Given the description of an element on the screen output the (x, y) to click on. 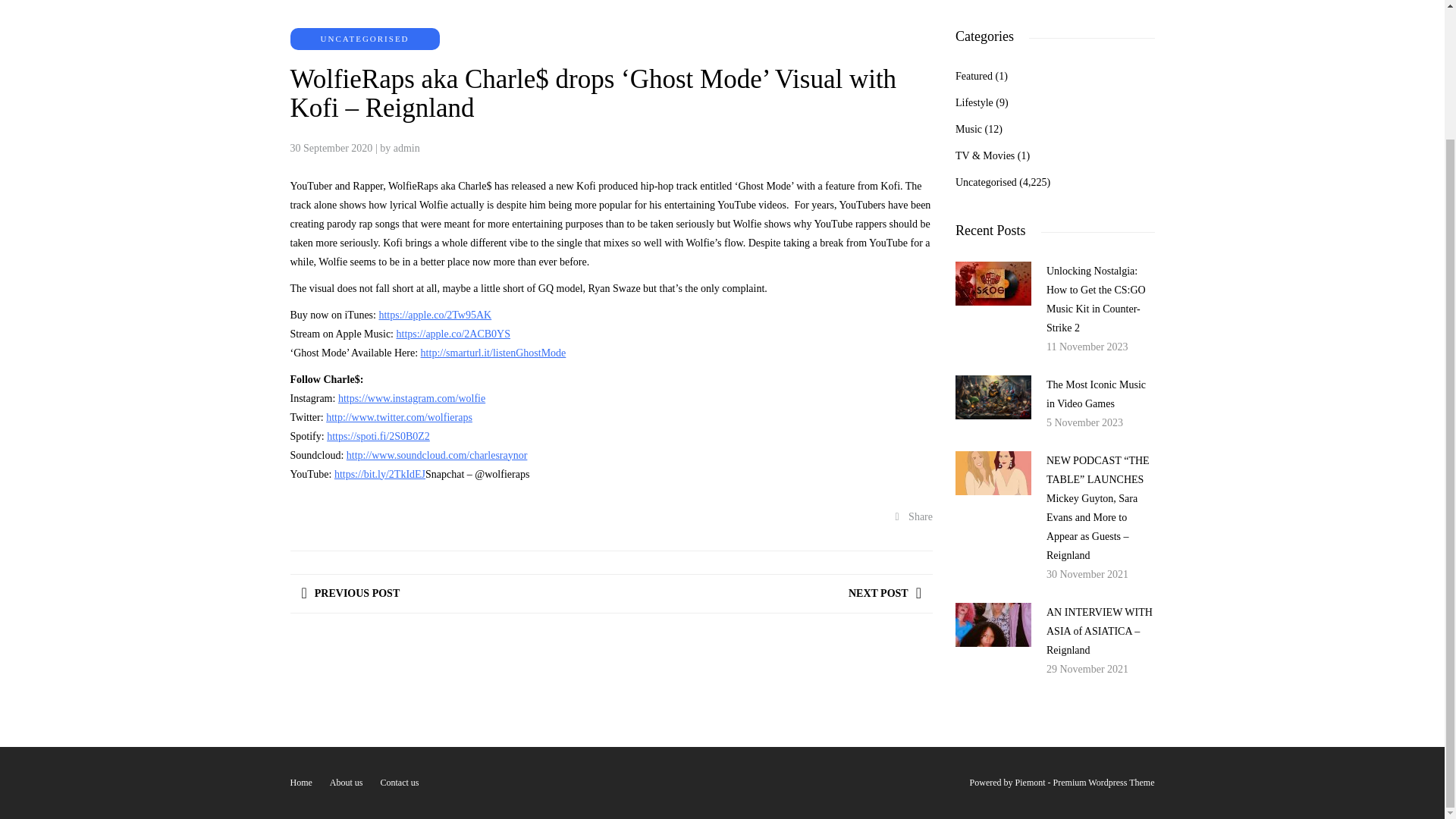
PREVIOUS POST (350, 593)
Lifestyle (973, 102)
Uncategorised (985, 182)
UNCATEGORISED (364, 38)
Music (968, 129)
Share (914, 516)
NEXT POST (884, 593)
Featured (973, 75)
